Given the description of an element on the screen output the (x, y) to click on. 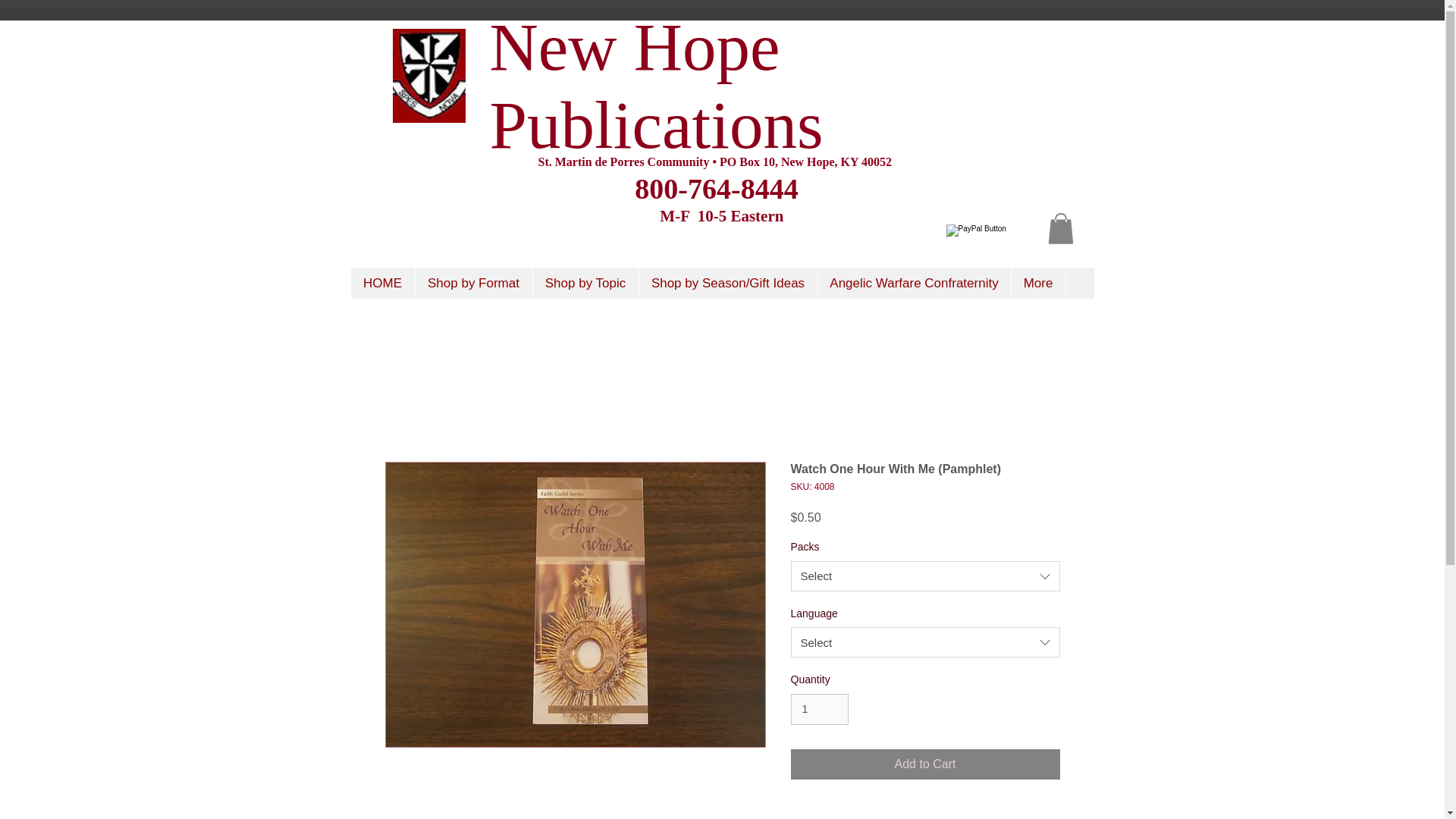
New Hope Publications (656, 85)
HOME (381, 282)
1 (818, 708)
